Given the description of an element on the screen output the (x, y) to click on. 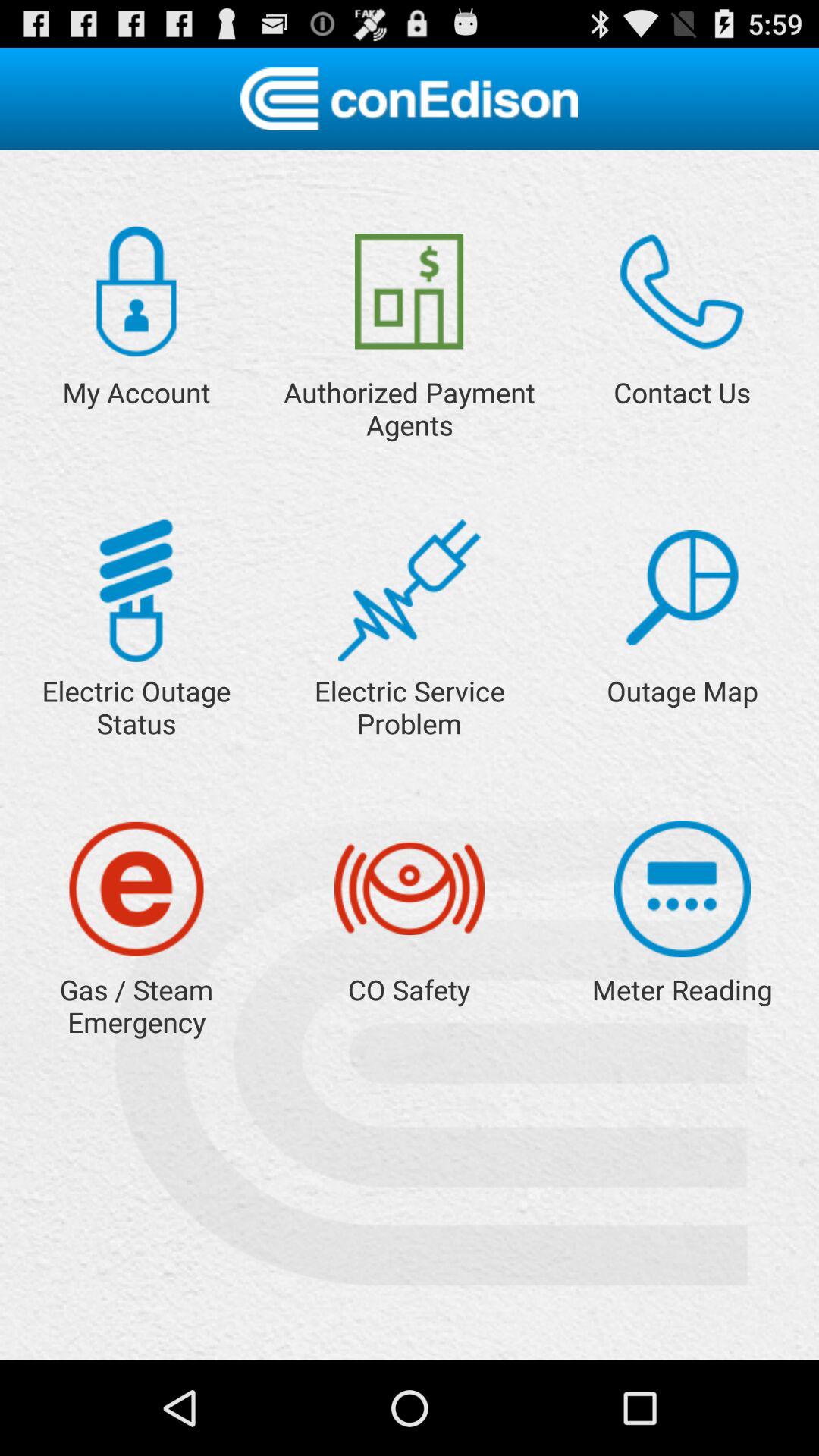
toggle outage map (682, 587)
